Given the description of an element on the screen output the (x, y) to click on. 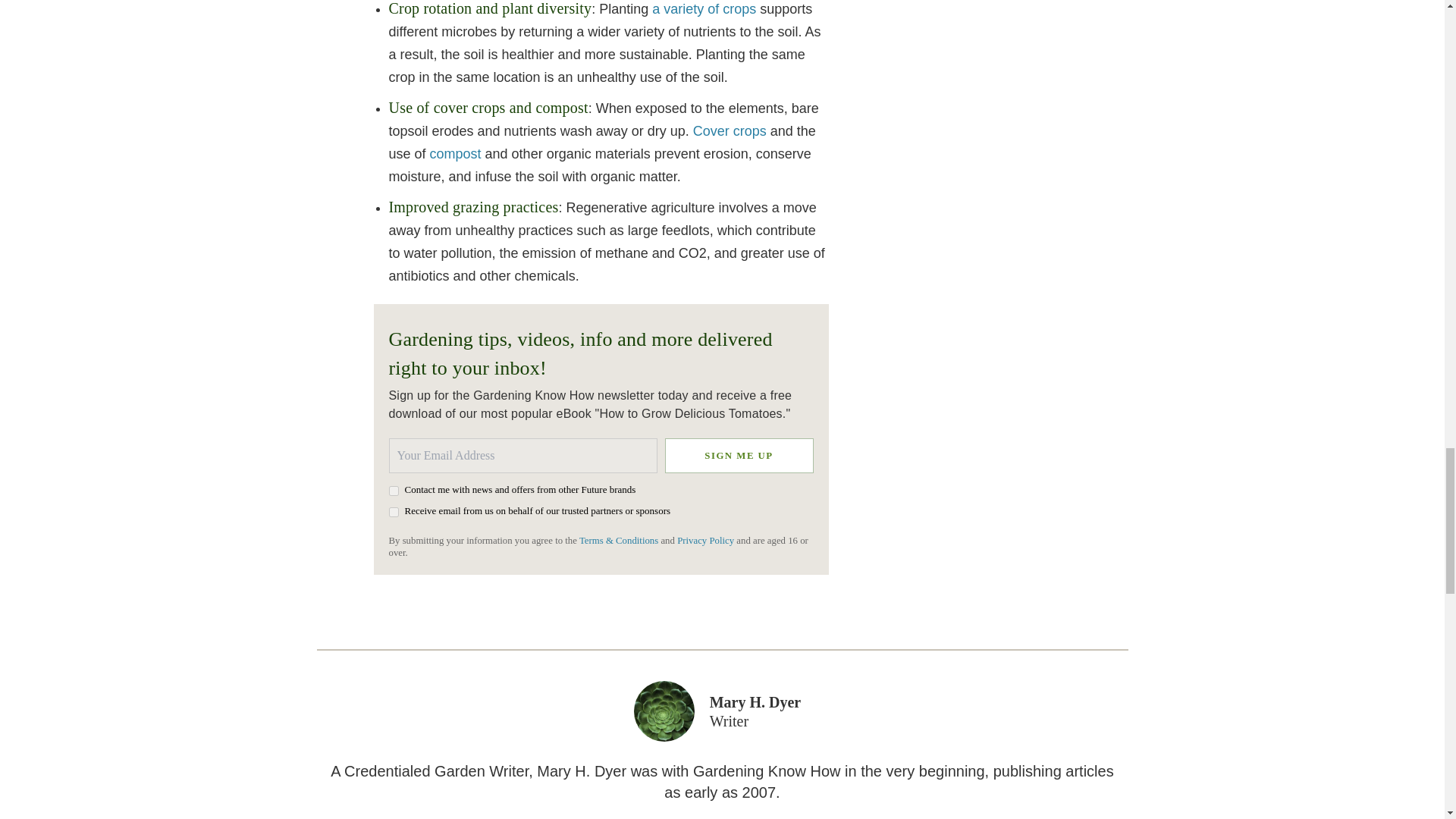
on (392, 491)
Sign me up (737, 455)
on (392, 511)
